Given the description of an element on the screen output the (x, y) to click on. 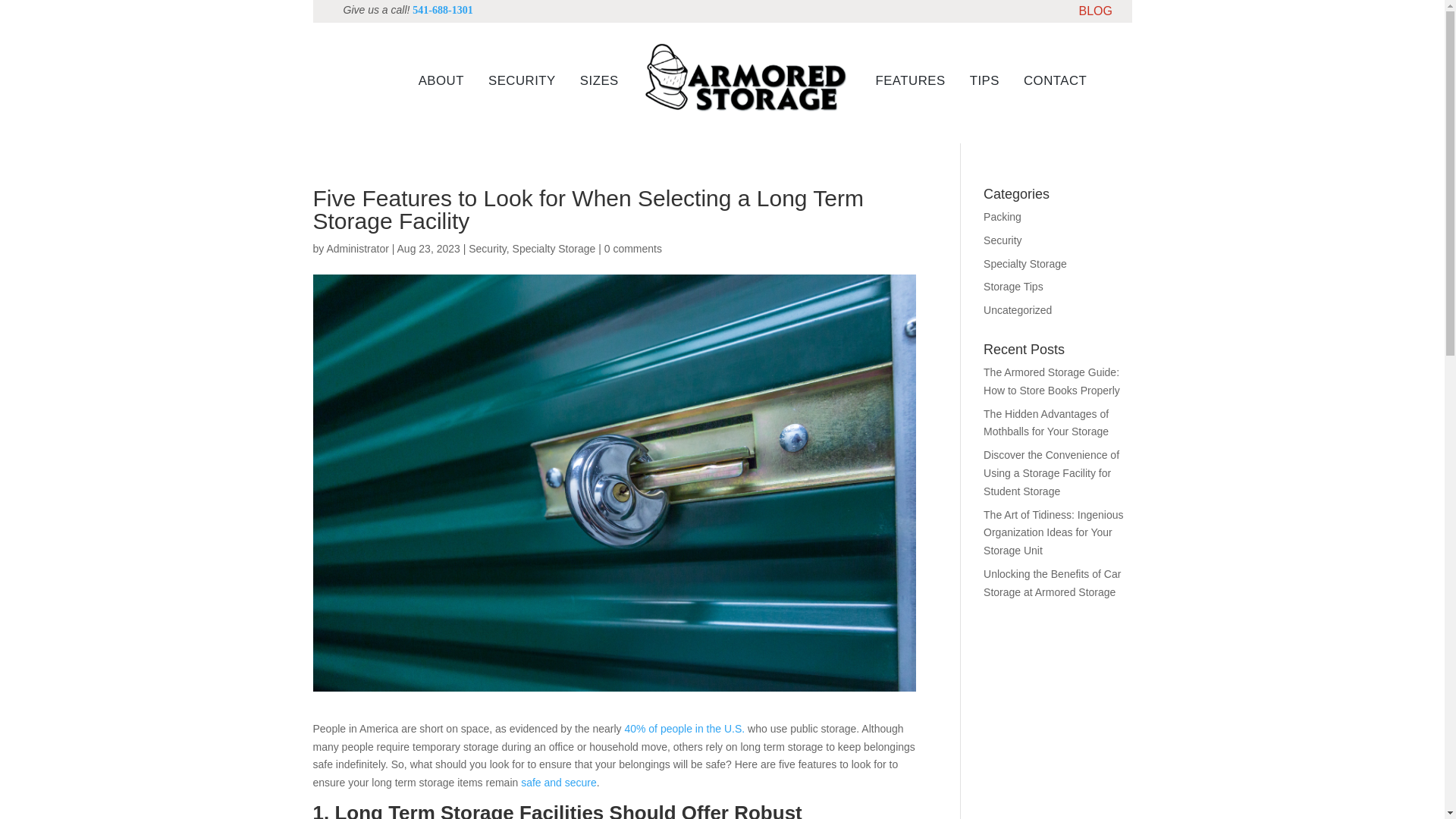
Posts by Administrator (357, 248)
safe and secure (558, 782)
Specialty Storage (553, 248)
0 comments (633, 248)
Security (487, 248)
BLOG (1095, 13)
541-688-1301 (441, 9)
Administrator (357, 248)
FEATURES (909, 81)
